Given the description of an element on the screen output the (x, y) to click on. 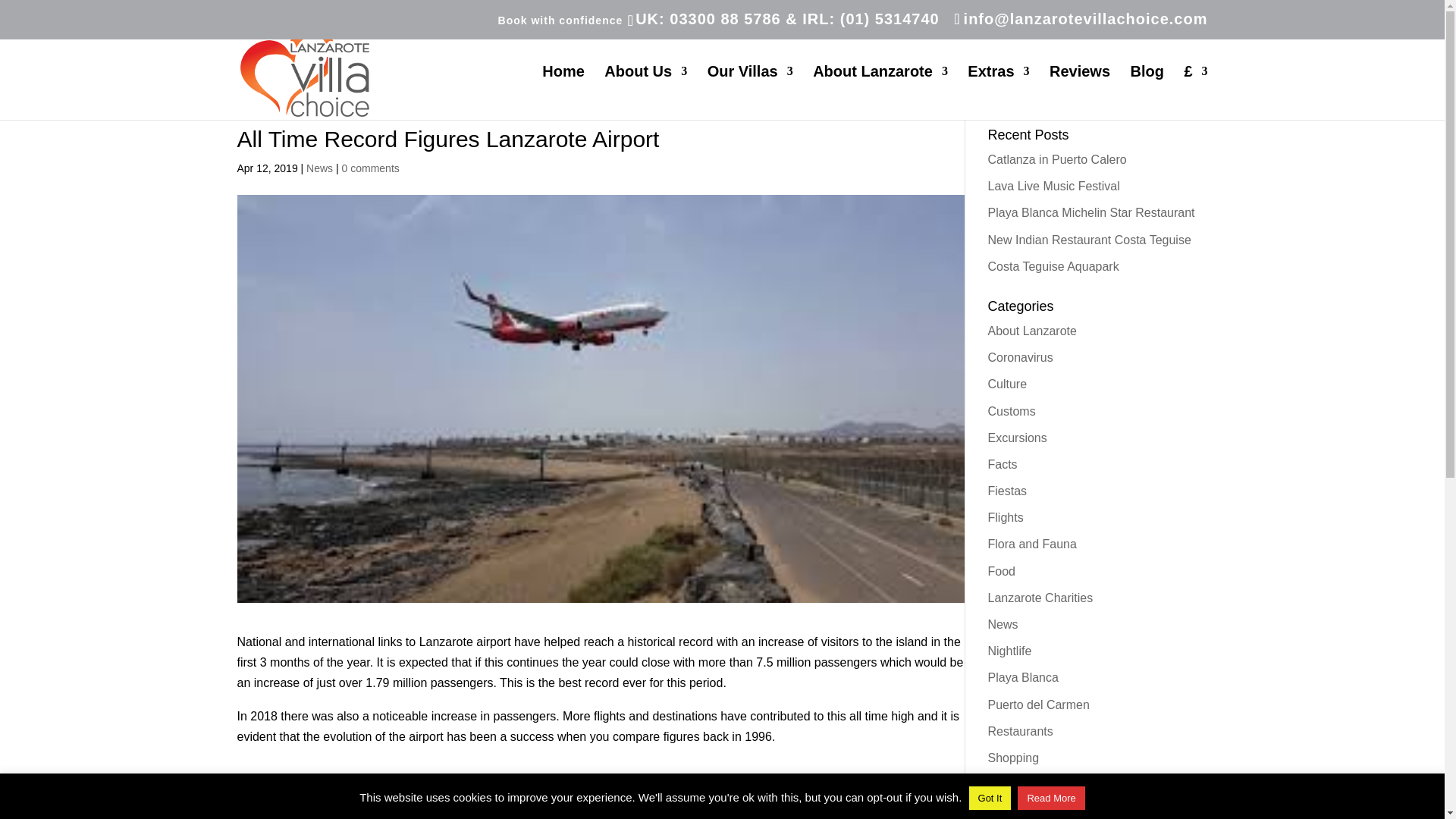
About Lanzarote (879, 92)
Extras (998, 92)
Reviews (1079, 92)
Blog (1146, 92)
About Us (645, 92)
Home (563, 92)
Our Villas (750, 92)
